Given the description of an element on the screen output the (x, y) to click on. 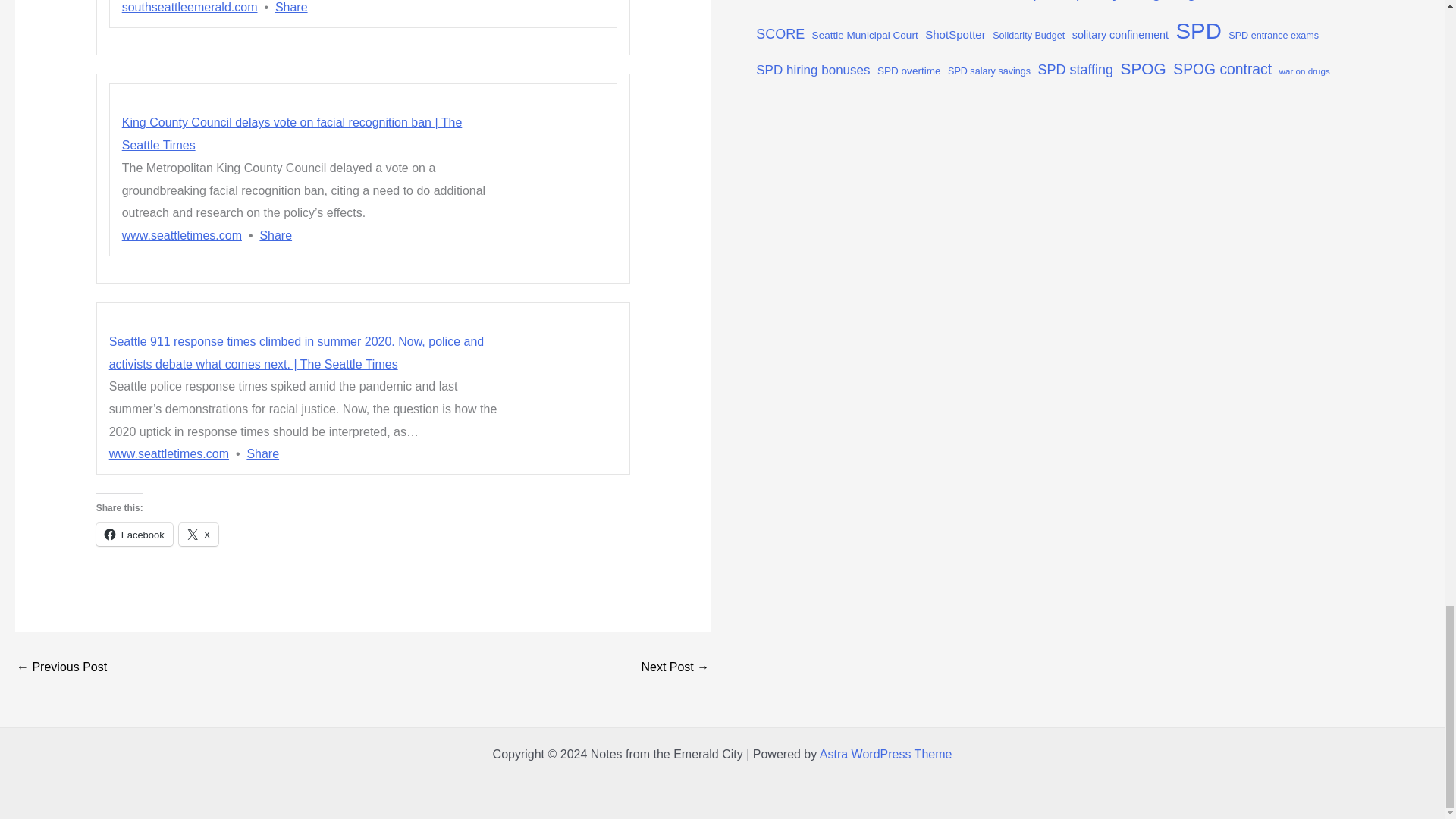
Share (291, 6)
southseattleemerald.com (189, 6)
www.seattletimes.com (181, 235)
www.seattletimes.com (168, 453)
Click to share on X (199, 534)
Click to share on Facebook (134, 534)
Share (262, 453)
Share (275, 235)
